Given the description of an element on the screen output the (x, y) to click on. 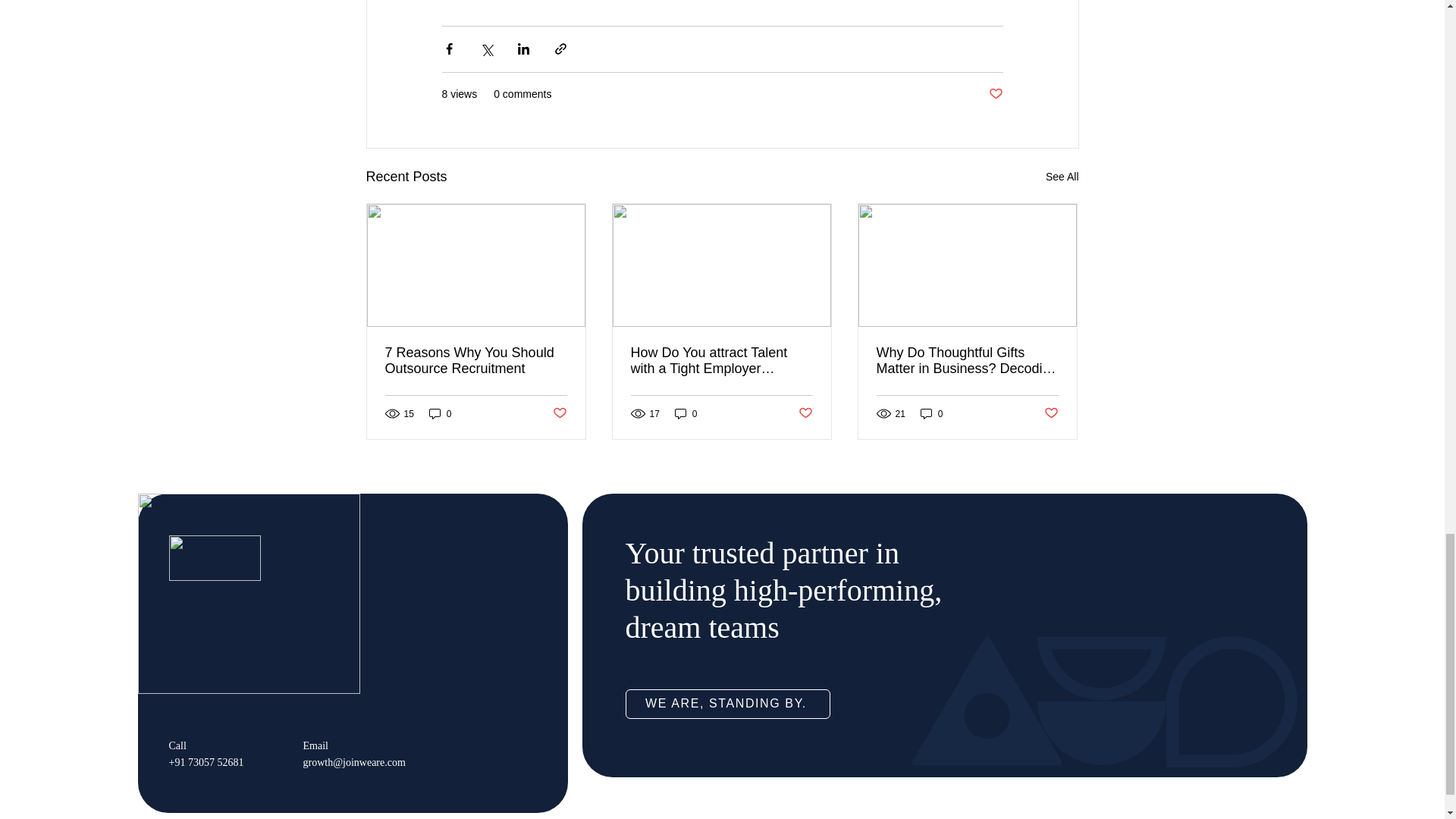
Post not marked as liked (1050, 413)
0 (931, 413)
We are logo.png (214, 557)
See All (1061, 177)
0 (440, 413)
Post not marked as liked (804, 413)
Post not marked as liked (995, 94)
WE ARE, STANDING BY. (726, 704)
Mask group.png (248, 593)
Post not marked as liked (558, 413)
